Given the description of an element on the screen output the (x, y) to click on. 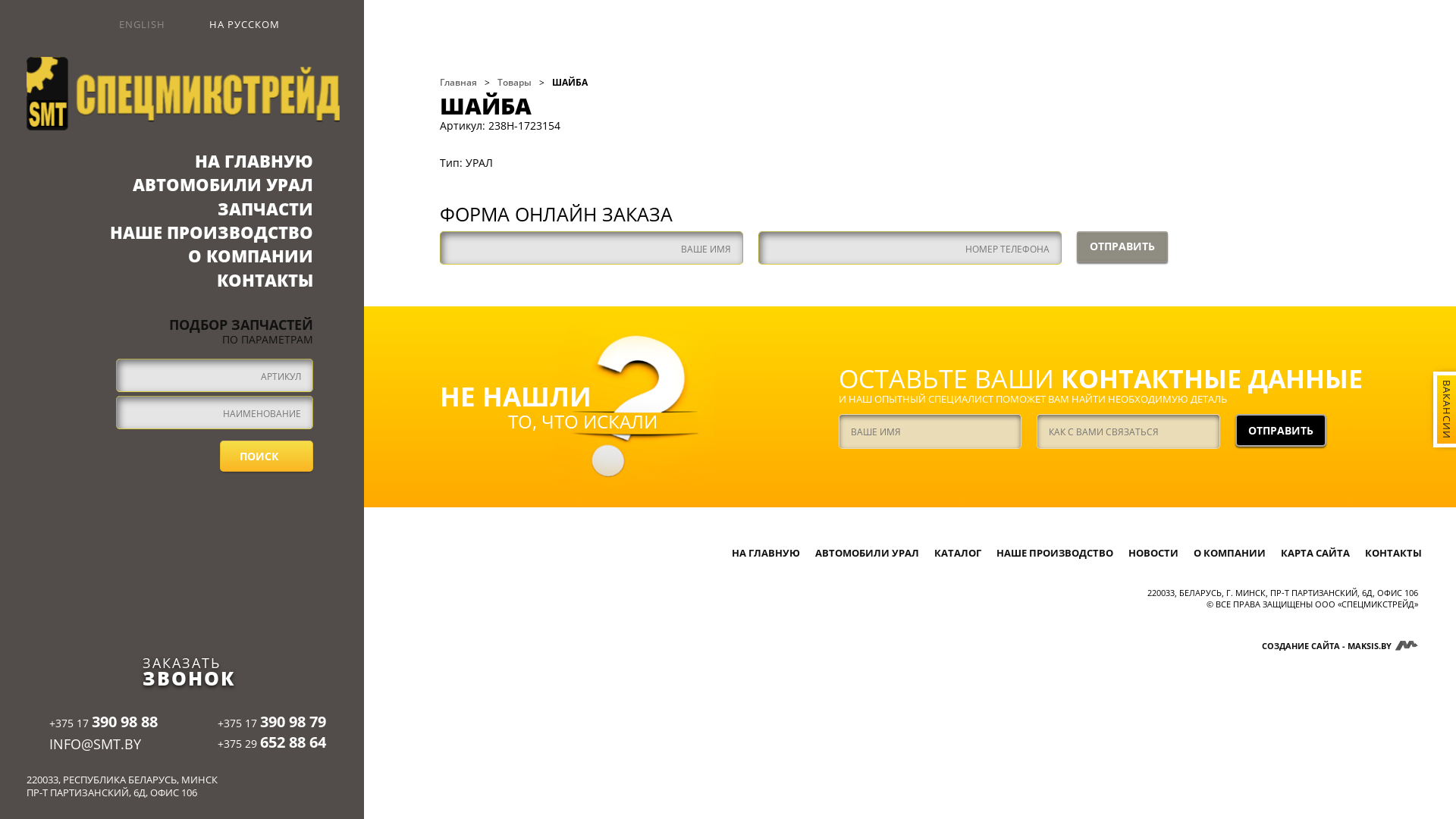
ENGLISH Element type: text (131, 24)
